Given the description of an element on the screen output the (x, y) to click on. 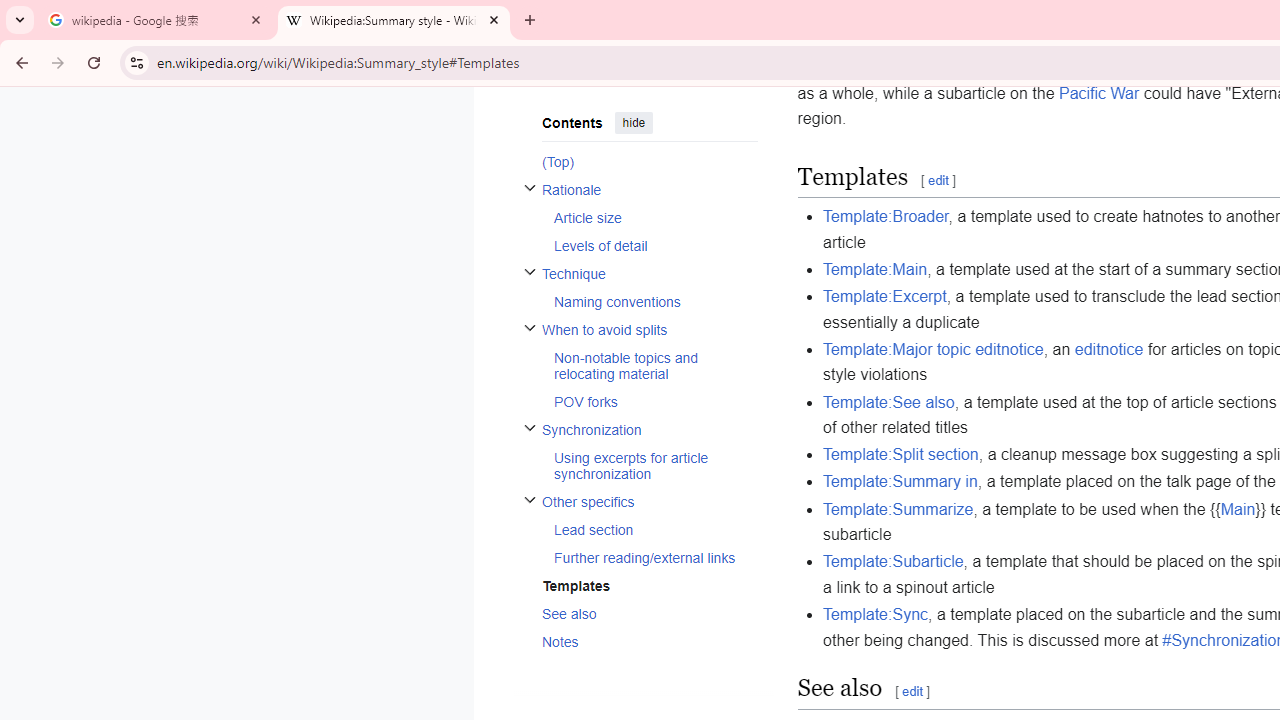
AutomationID: toc-Article_size (649, 217)
Further reading/external links (654, 556)
Template:Broader (885, 215)
Non-notable topics and relocating material (654, 365)
AutomationID: toc-POV_forks (649, 401)
Template:Subarticle (893, 561)
Toggle Other specifics subsection (529, 499)
Toggle Rationale subsection (529, 186)
Naming conventions (654, 301)
Article size (654, 217)
Wikipedia:Summary style - Wikipedia (394, 20)
AutomationID: toc-Rationale (642, 216)
edit (913, 691)
